Given the description of an element on the screen output the (x, y) to click on. 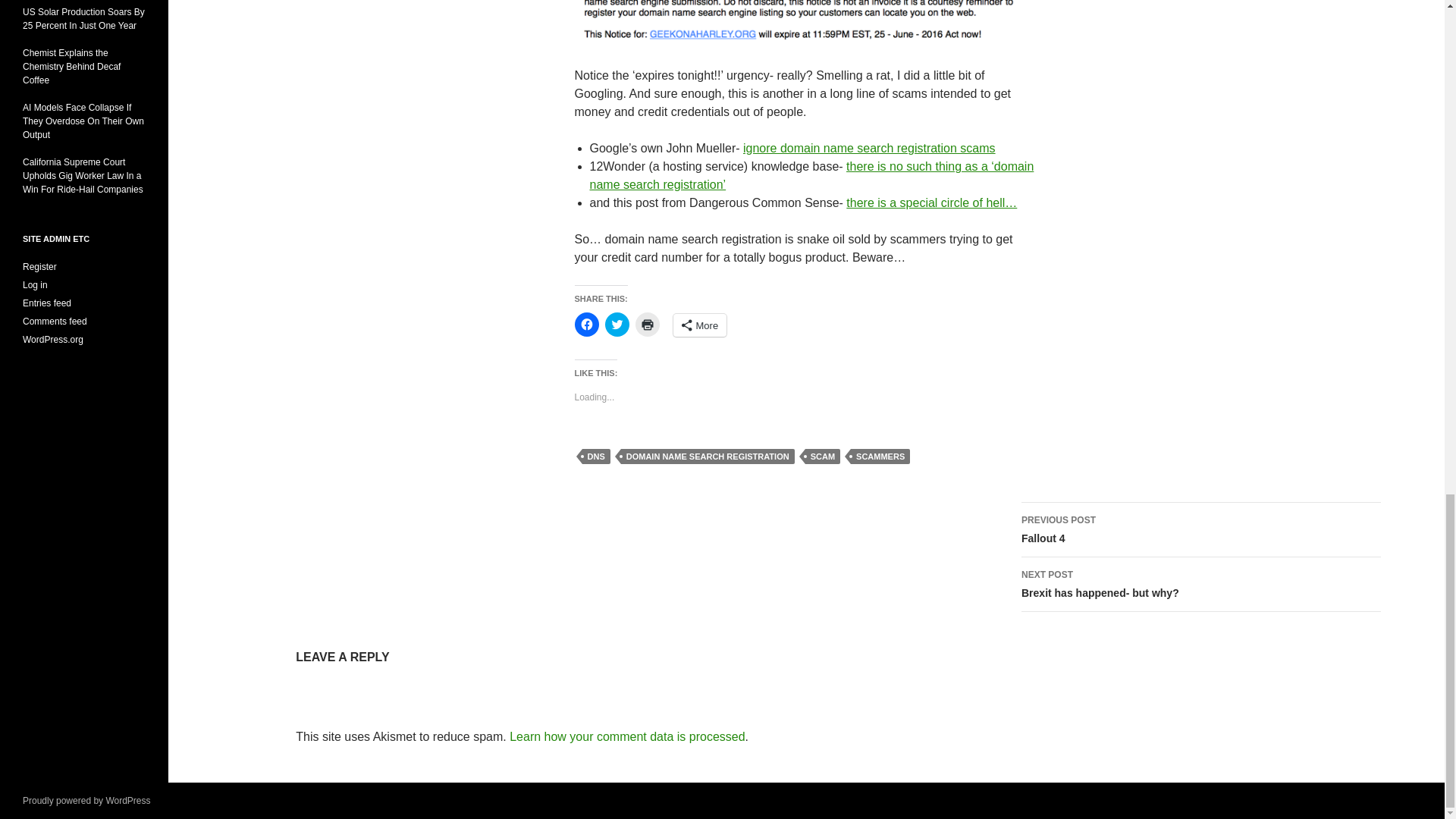
12Wonder knowledgebase (811, 174)
Click to print (646, 324)
Click to share on Twitter (616, 324)
Click to share on Facebook (586, 324)
Dangerous Common Sense (930, 202)
